Given the description of an element on the screen output the (x, y) to click on. 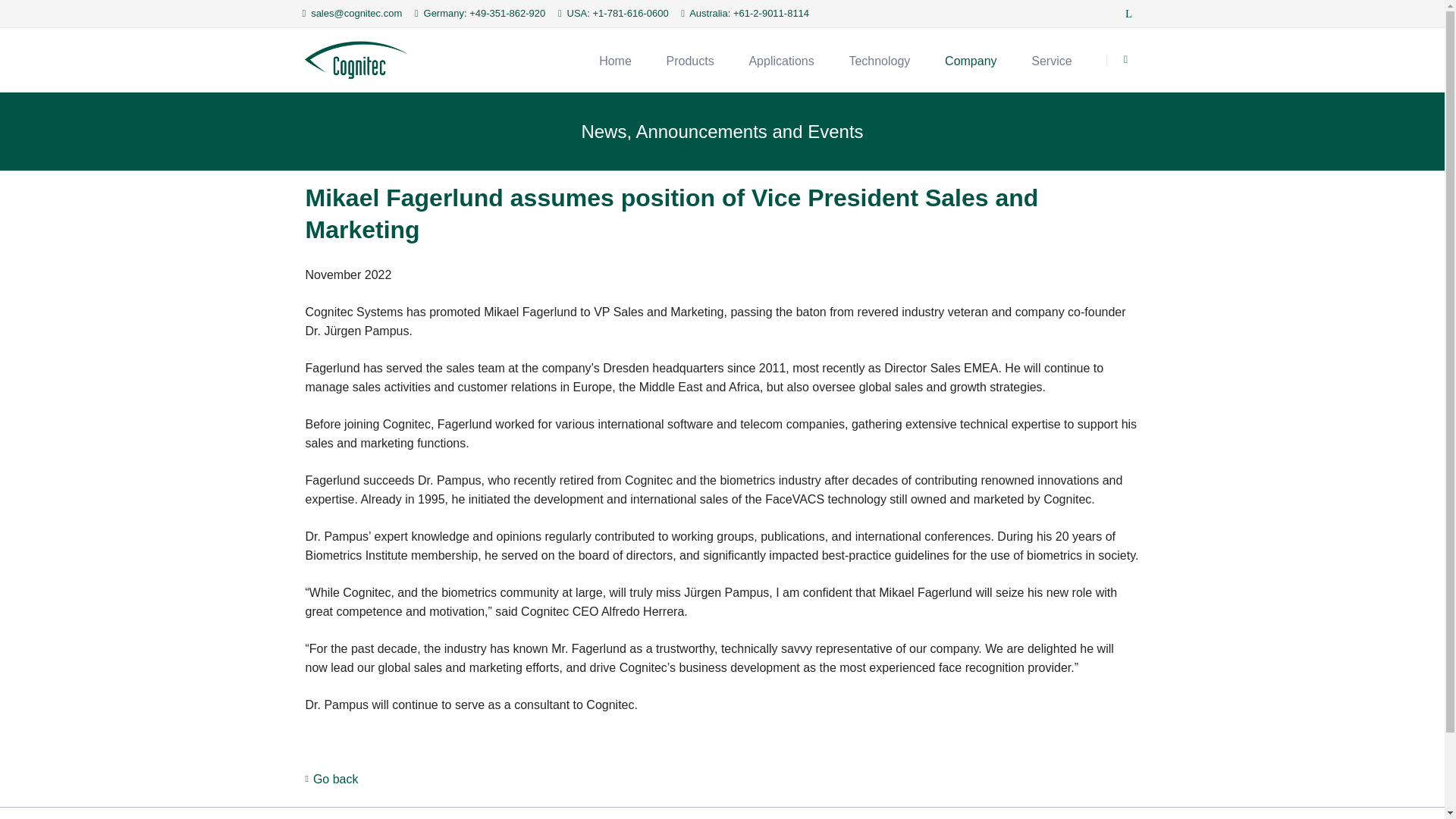
Products (690, 59)
Company (970, 59)
Technology (879, 59)
Applications (781, 59)
Home (613, 59)
Technology (879, 59)
SEARCH (1125, 60)
The face recognition company (613, 59)
Service (1051, 59)
